Given the description of an element on the screen output the (x, y) to click on. 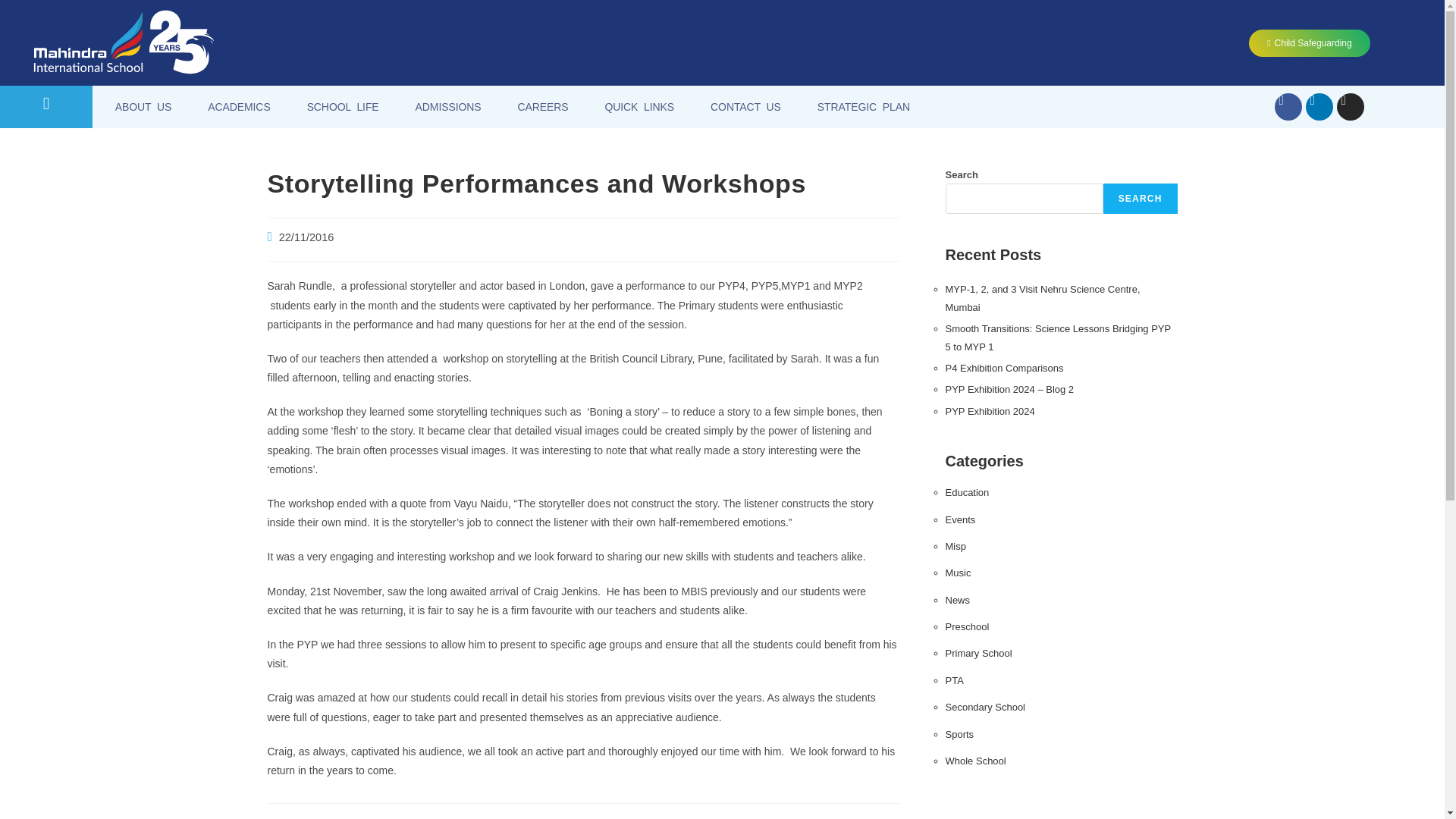
Child Safeguarding (1309, 42)
SCHOOL LIFE (343, 106)
ADMISSIONS (448, 106)
CAREERS (542, 106)
ACADEMICS (238, 106)
QUICK LINKS (638, 106)
ABOUT US (143, 106)
